Given the description of an element on the screen output the (x, y) to click on. 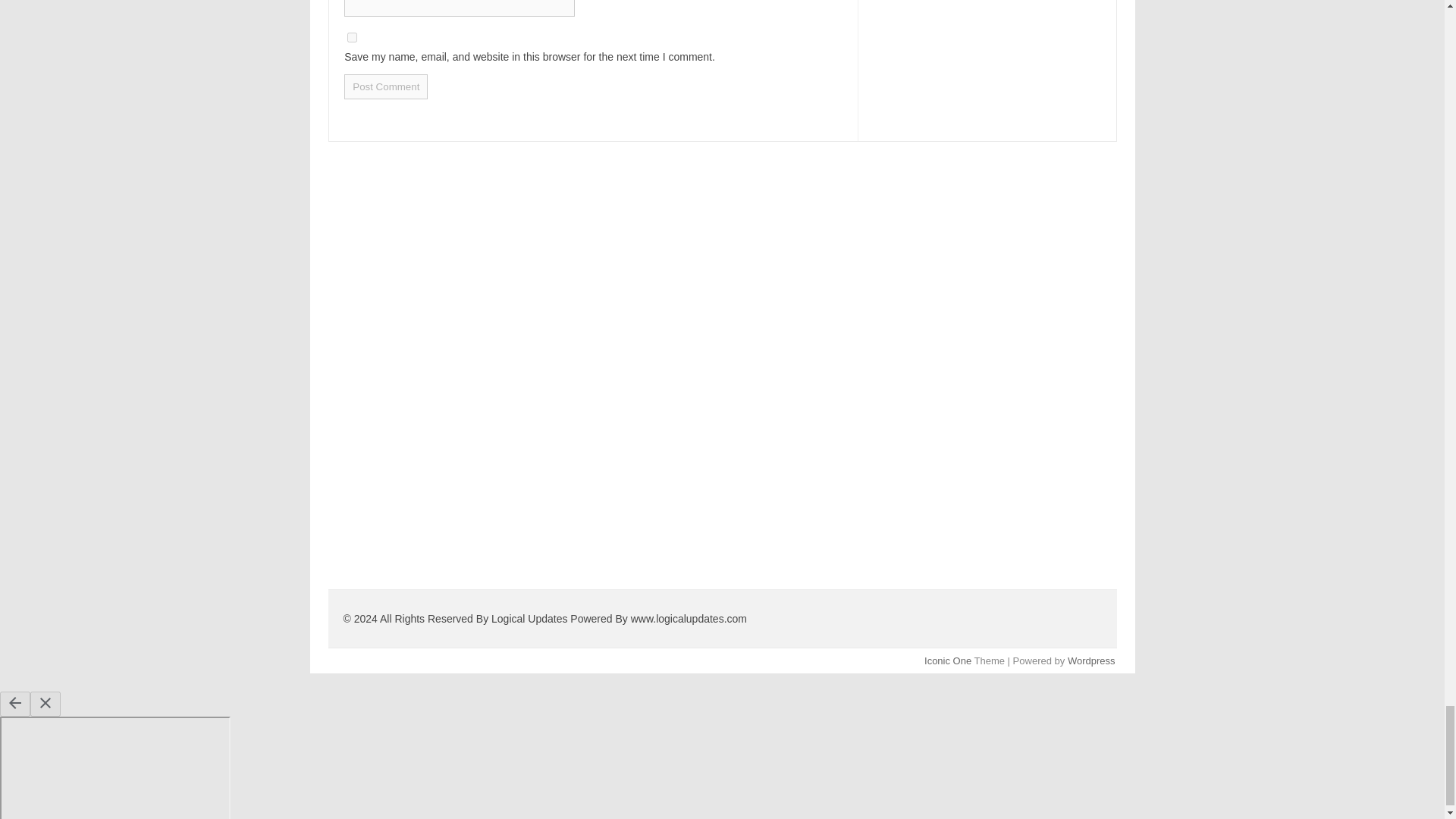
yes (351, 37)
Post Comment (385, 86)
Post Comment (385, 86)
